Given the description of an element on the screen output the (x, y) to click on. 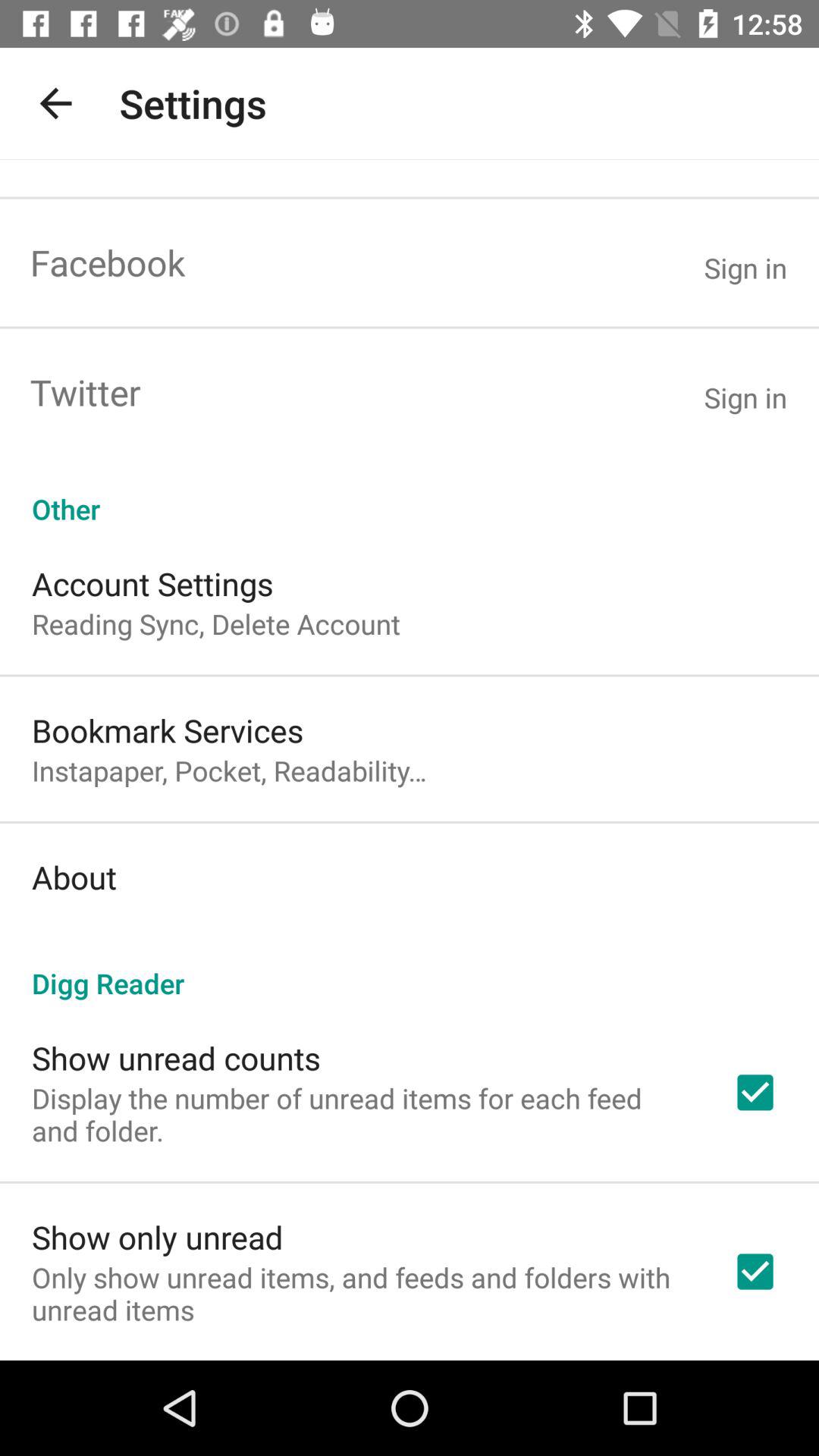
scroll to the account settings icon (152, 583)
